Given the description of an element on the screen output the (x, y) to click on. 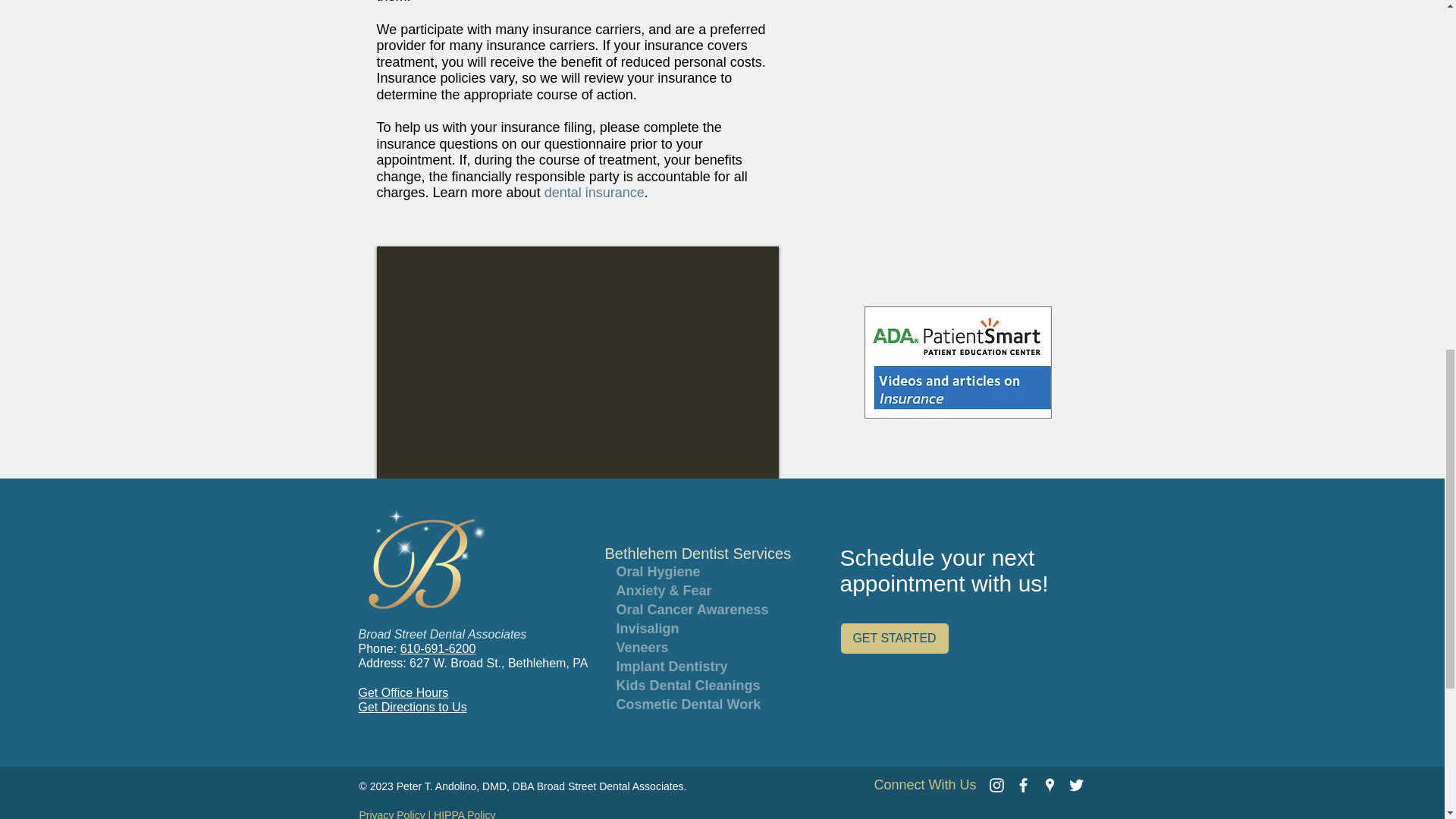
External YouTube (576, 362)
Implant Dentistry (690, 666)
Oral Cancer Awareness (690, 609)
Oral Hygiene (690, 571)
Get Directions to Us (411, 707)
Get Office Hours (403, 692)
Veneers (690, 647)
dental insurance (594, 192)
Helpful Dental Insurance (957, 361)
Cosmetic Dental Work (690, 704)
